Given the description of an element on the screen output the (x, y) to click on. 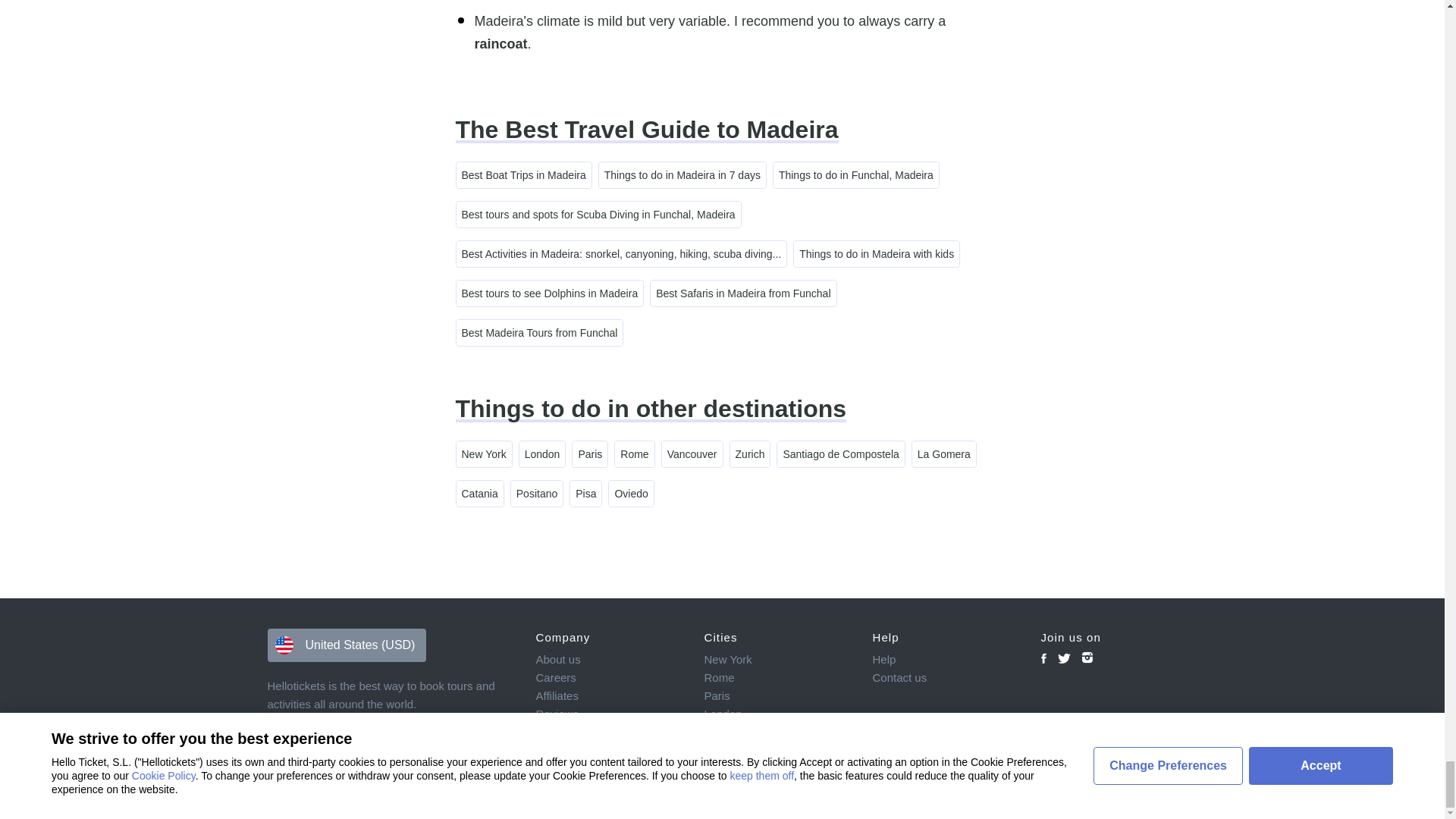
Things to do in Madeira in 7 days (681, 175)
Best Boat Trips in Madeira (524, 175)
The Best Travel Guide to Madeira (646, 129)
